Given the description of an element on the screen output the (x, y) to click on. 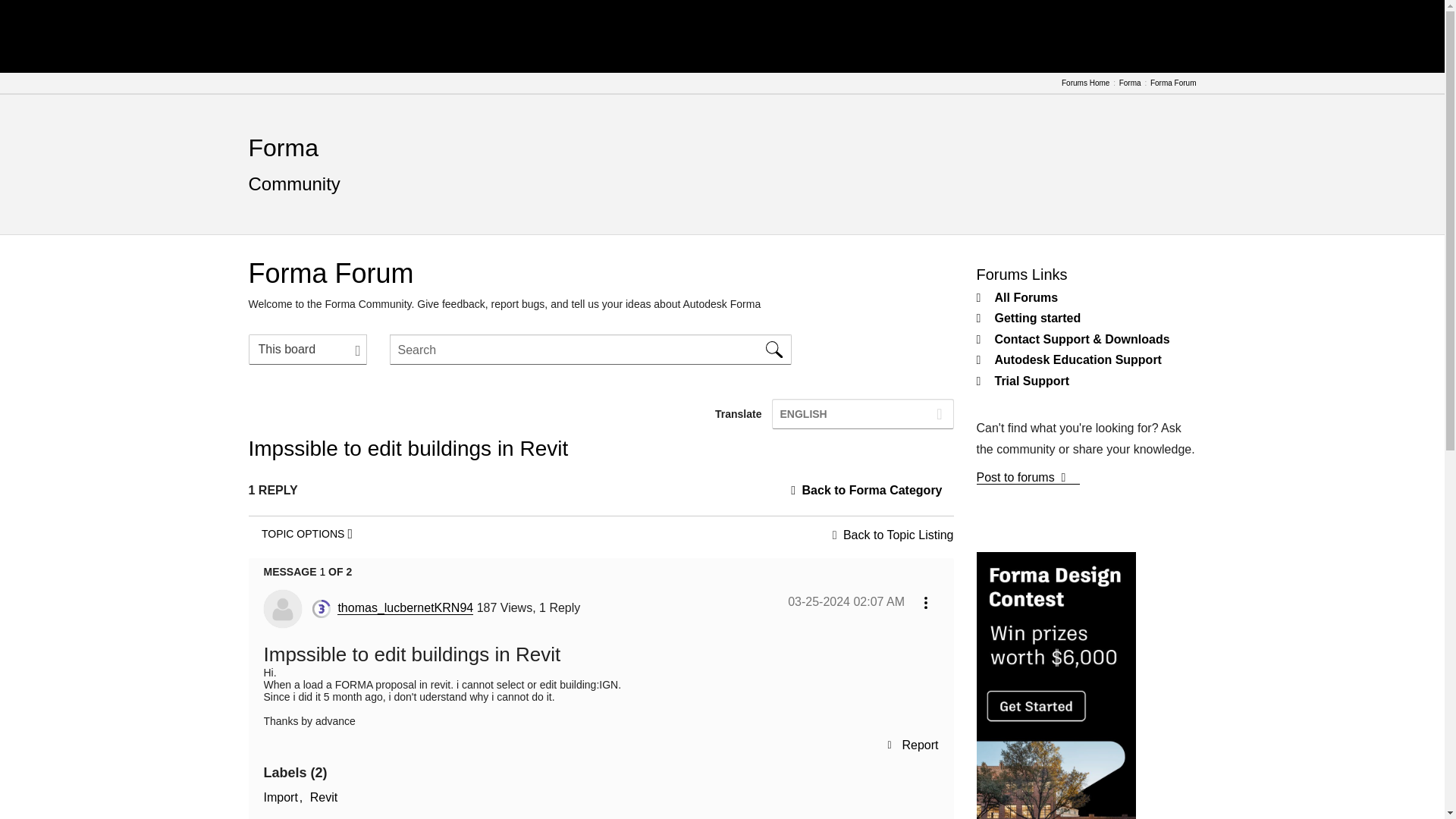
Back to Forma Category (872, 490)
TOPIC OPTIONS (306, 533)
Forma Forum (1173, 82)
Search (774, 349)
Report (911, 744)
Forma (1130, 82)
Search Granularity (307, 349)
Forma (283, 147)
Posted on (845, 601)
Search (774, 349)
Import (282, 797)
Revit (323, 797)
Search (774, 349)
Forums Home (1085, 82)
Observer (321, 608)
